Given the description of an element on the screen output the (x, y) to click on. 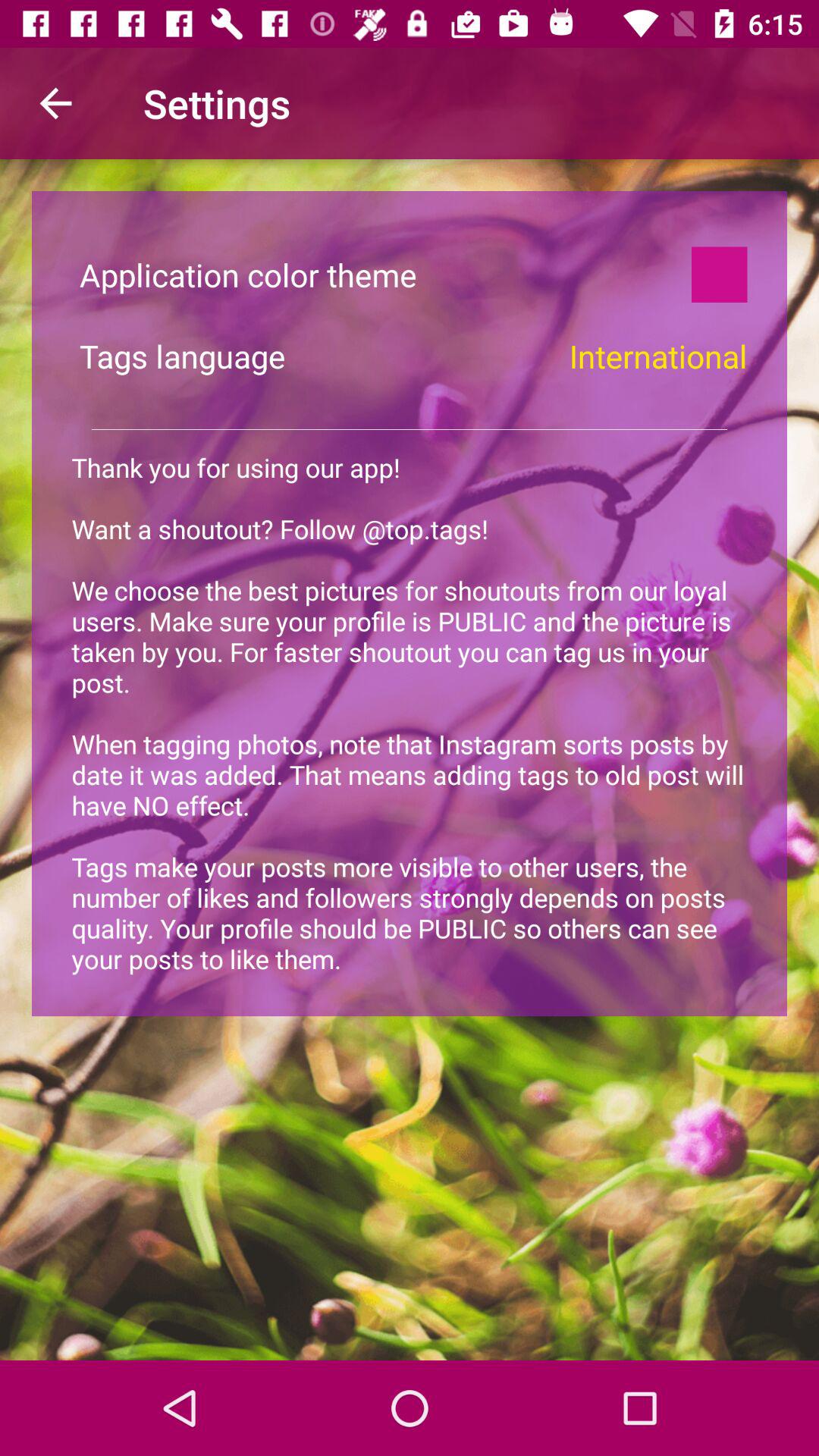
turn on the item next to settings item (55, 103)
